Given the description of an element on the screen output the (x, y) to click on. 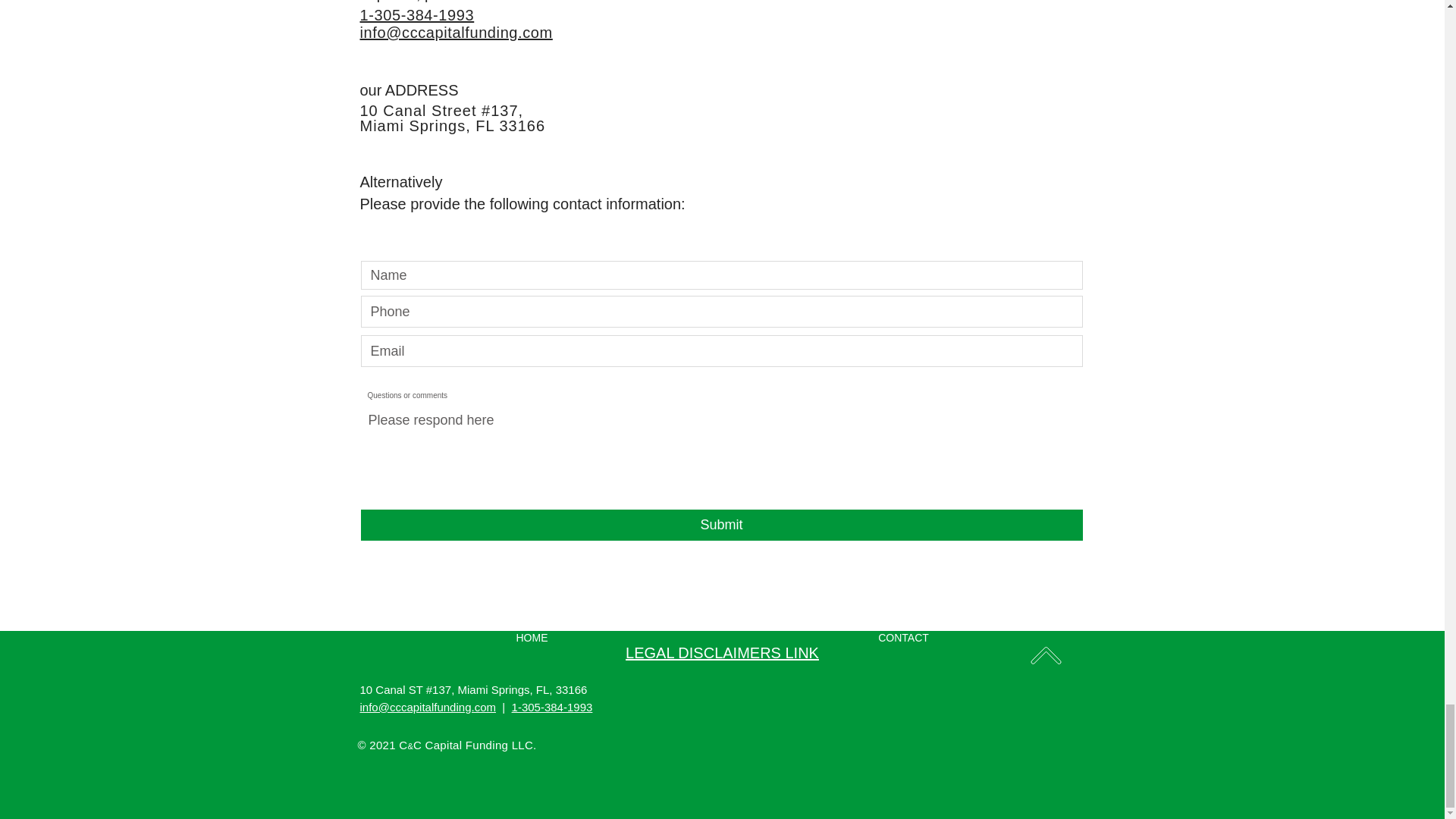
Submit (722, 524)
1-305-384-1993 (416, 14)
HOME (531, 637)
CONTACT (903, 637)
LEGAL DISCLAIMERS LINK (722, 652)
1-305-384-1993 (552, 707)
